Given the description of an element on the screen output the (x, y) to click on. 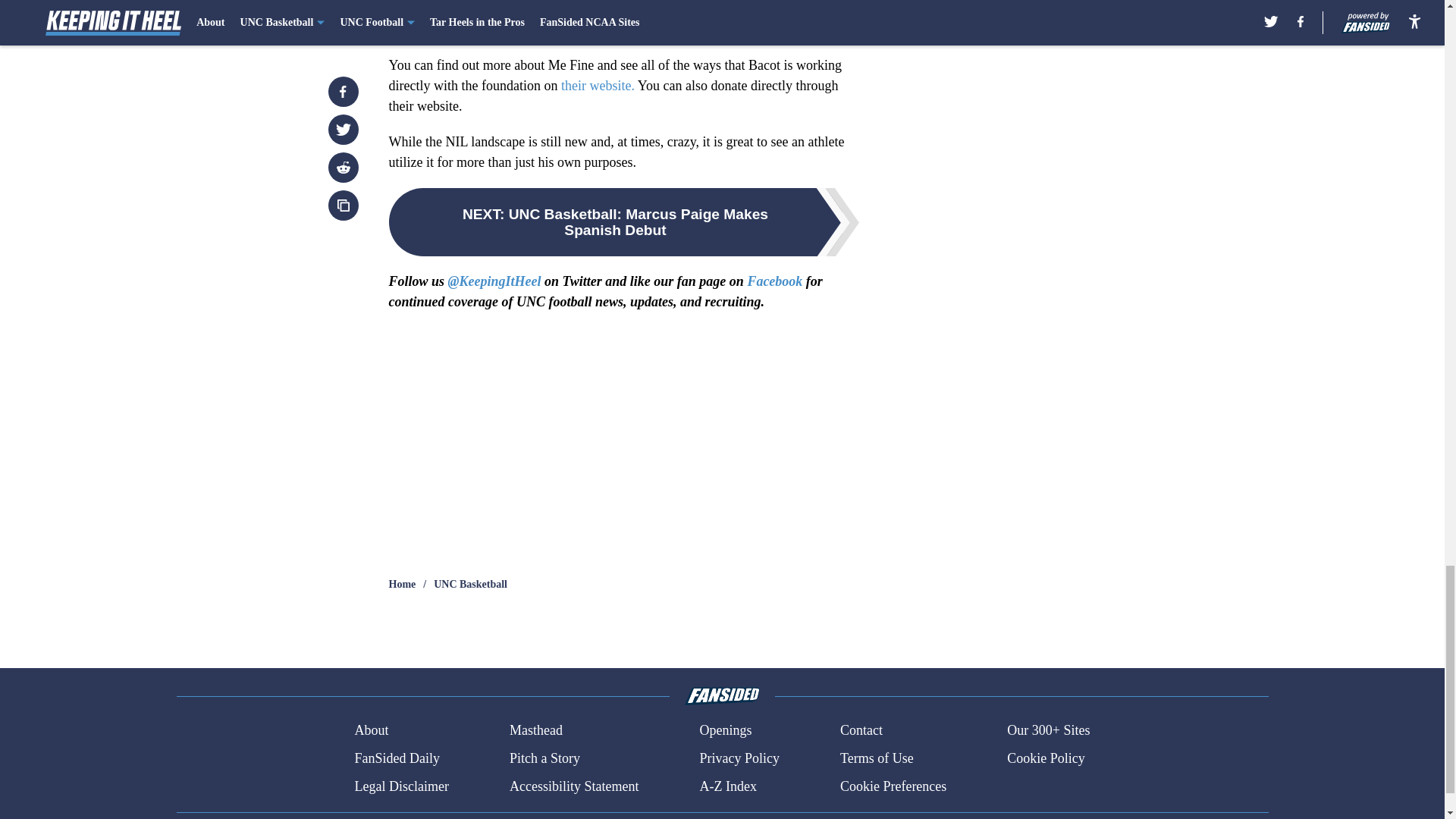
Home (401, 584)
Privacy Policy (738, 758)
their website. (597, 85)
FanSided Daily (396, 758)
Terms of Use (877, 758)
Contact (861, 730)
UNC Basketball (469, 584)
Facebook (774, 281)
About (370, 730)
Pitch a Story (544, 758)
Openings (724, 730)
Cookie Policy (1045, 758)
NEXT: UNC Basketball: Marcus Paige Makes Spanish Debut (623, 222)
Masthead (535, 730)
